Given the description of an element on the screen output the (x, y) to click on. 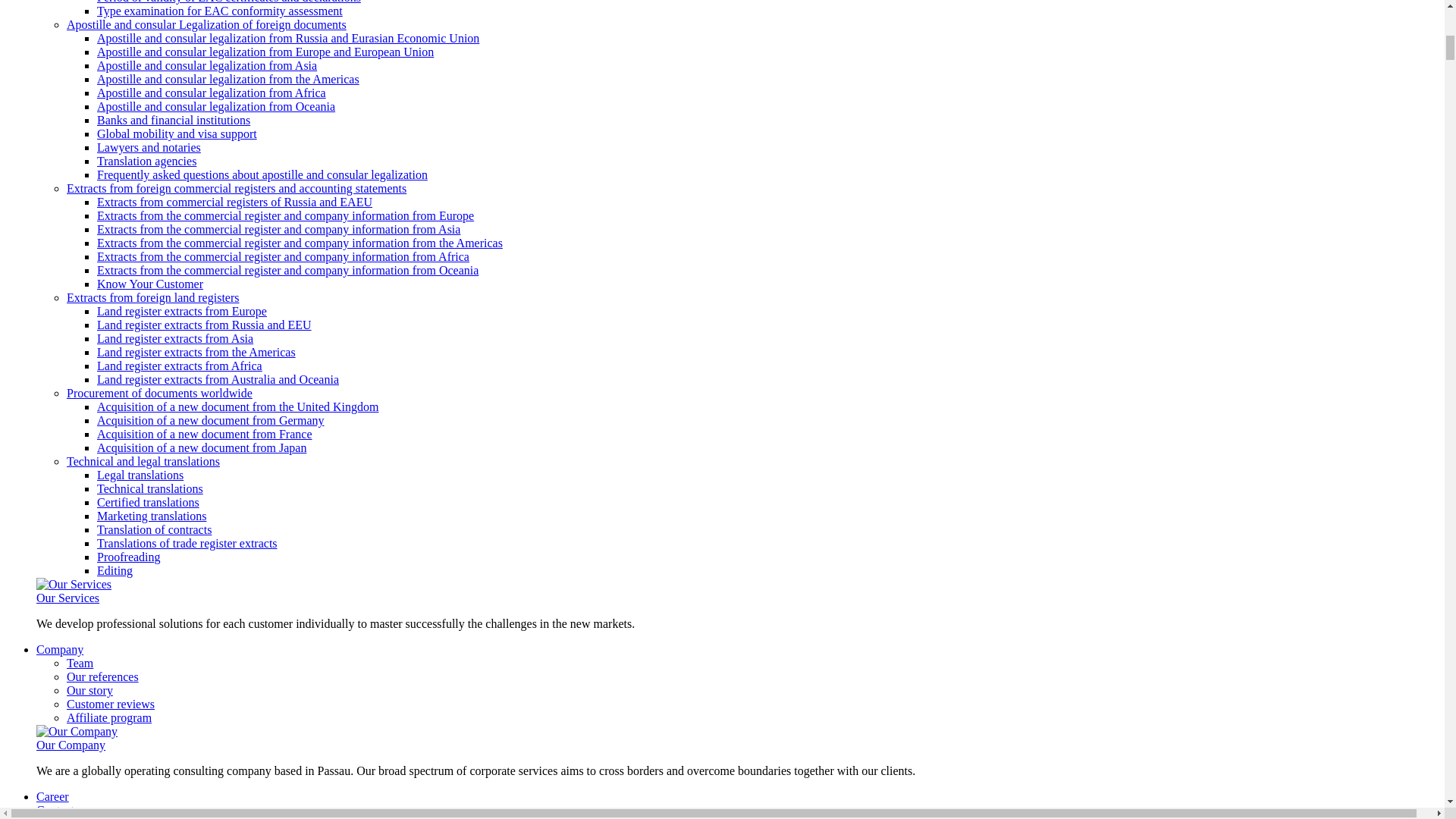
Our Services (74, 584)
Our Company (76, 731)
